Given the description of an element on the screen output the (x, y) to click on. 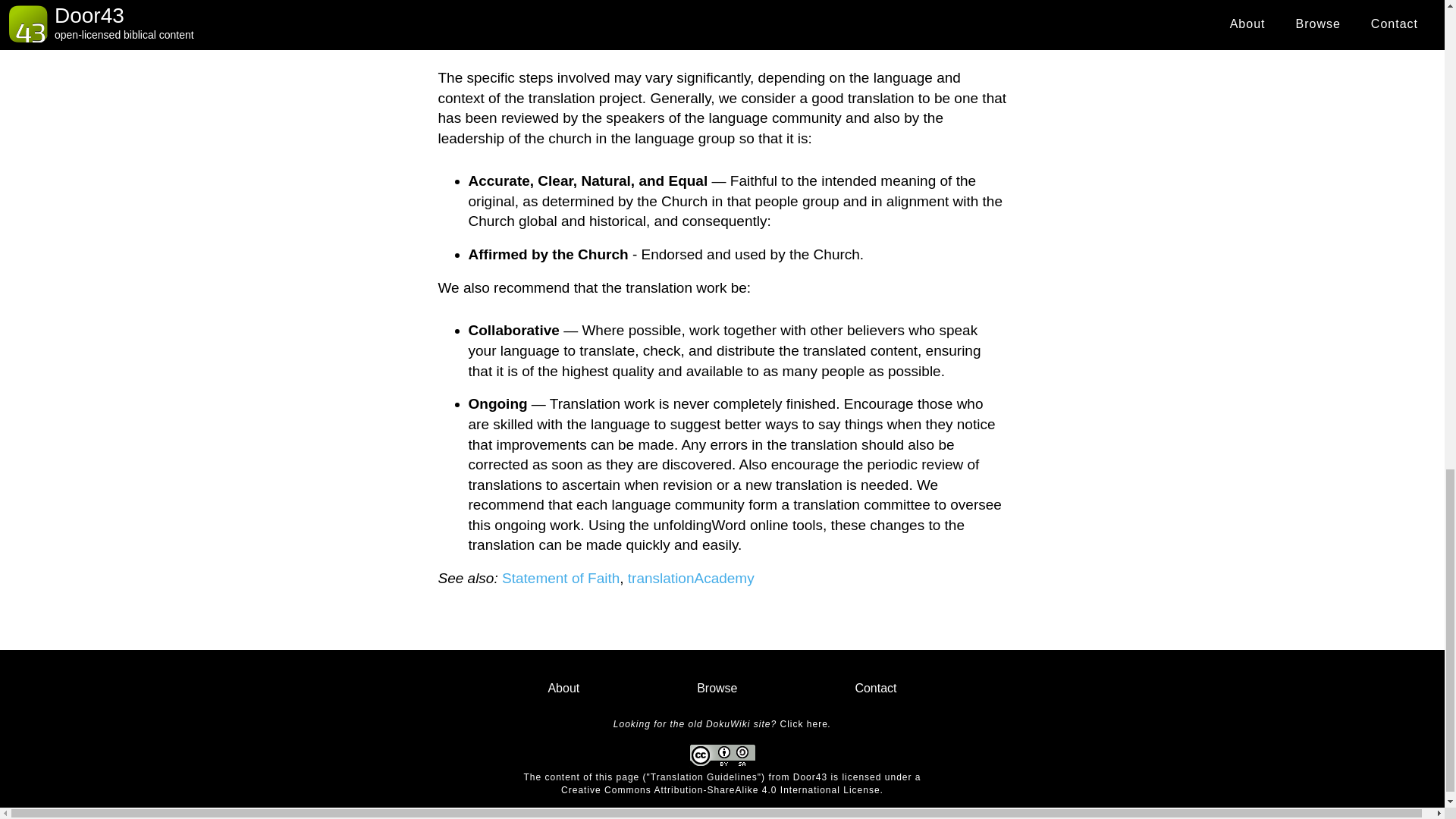
Browse (717, 688)
Translation Guidelines (703, 777)
About (564, 688)
Contact (875, 688)
translationAcademy (690, 578)
Click here (802, 724)
Statement of Faith (561, 578)
